Given the description of an element on the screen output the (x, y) to click on. 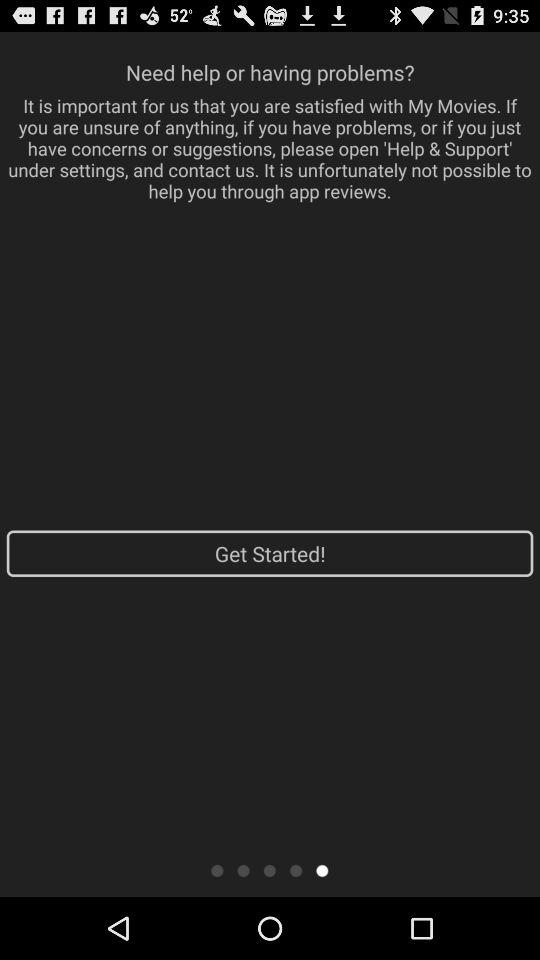
turn off the app below the it is important (269, 553)
